Given the description of an element on the screen output the (x, y) to click on. 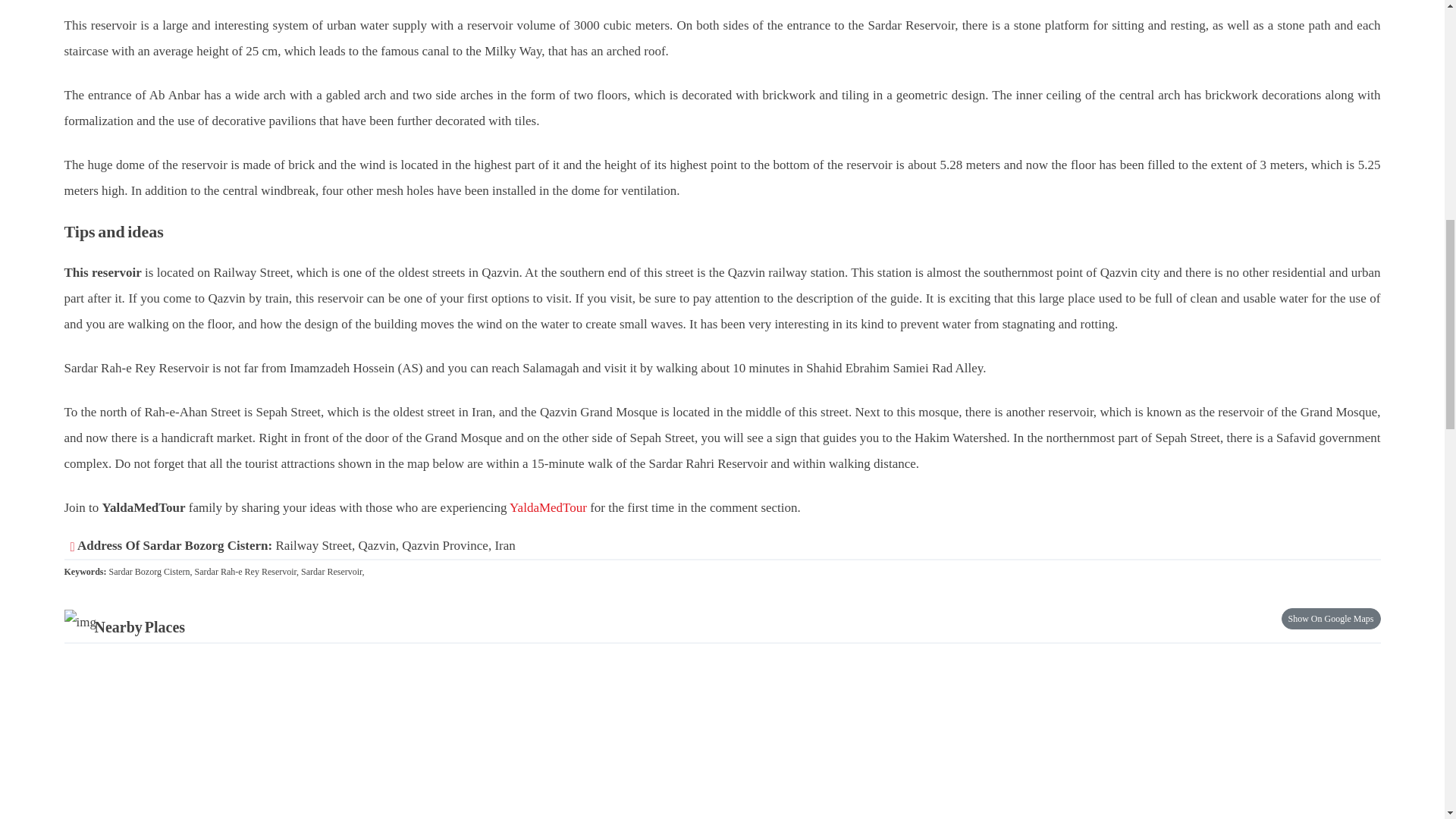
Show On Google Maps (1330, 618)
YaldaMedTour (547, 507)
